Given the description of an element on the screen output the (x, y) to click on. 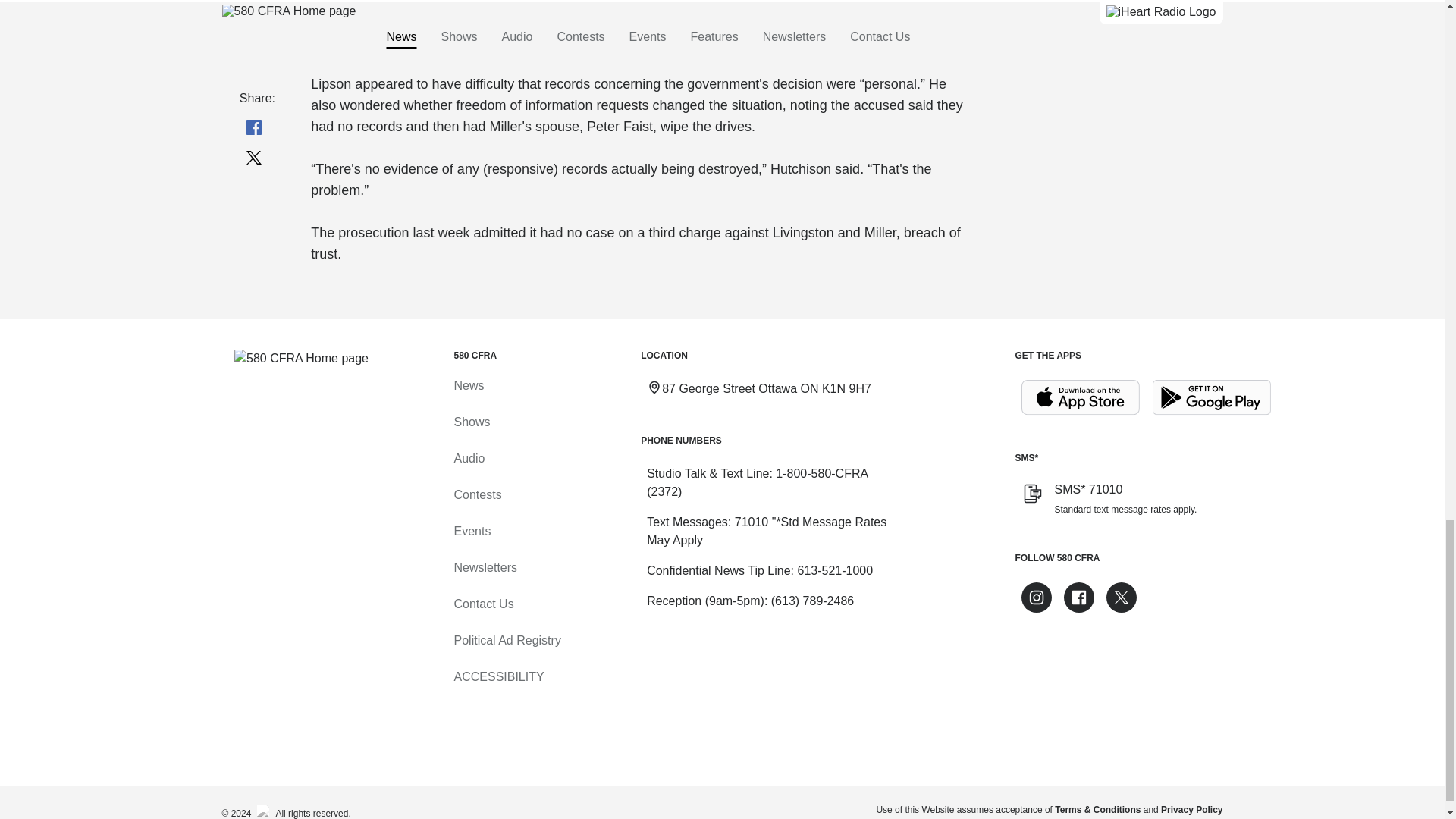
ACCESSIBILITY (497, 676)
Political Ad Registry (506, 640)
Contact Us (482, 603)
Events (471, 530)
Newsletters (484, 567)
613-521-1000 (834, 570)
Get it on Google Play (1212, 397)
Accessibility (497, 676)
Download on the App Store (1080, 397)
News (467, 385)
Contests (476, 494)
Shows (470, 421)
Audio (468, 458)
Privacy Policy (1191, 809)
